Given the description of an element on the screen output the (x, y) to click on. 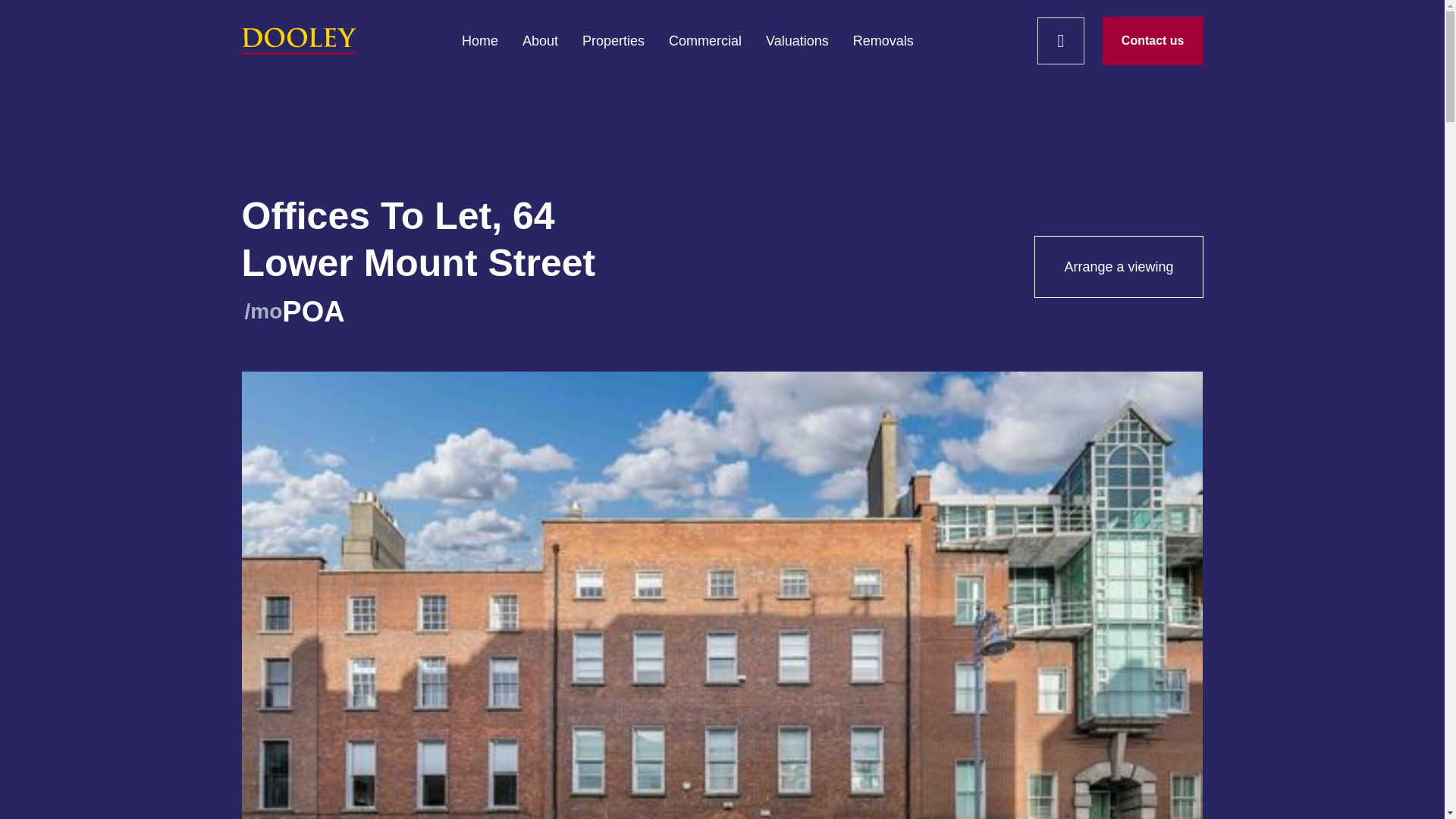
Valuations (796, 40)
Commercial (704, 40)
Properties (613, 40)
Arrange a viewing (1117, 266)
About (539, 40)
Contact us (1153, 40)
Removals (883, 40)
Home (479, 40)
